Given the description of an element on the screen output the (x, y) to click on. 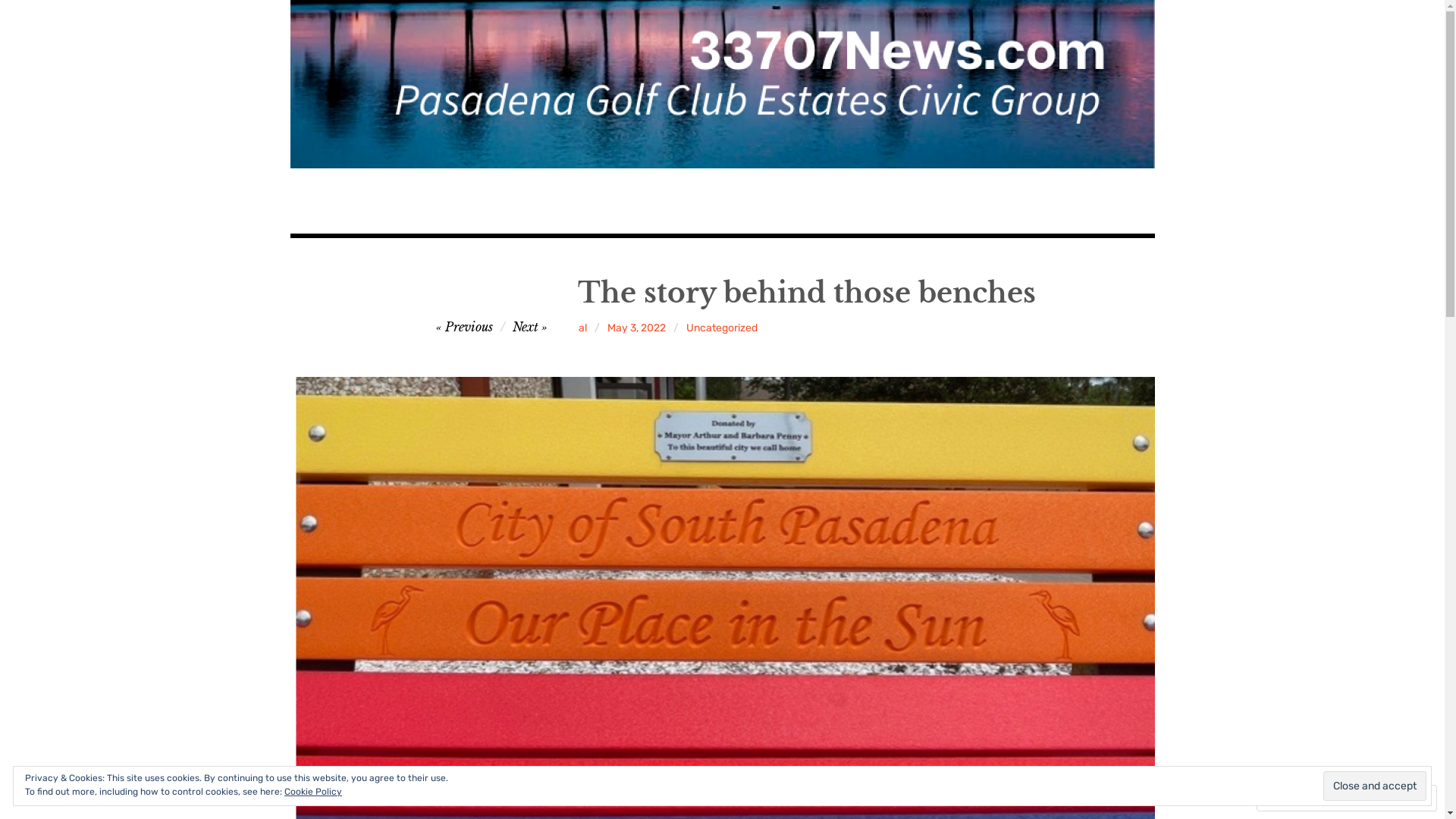
Comment Element type: text (1297, 797)
Previous Element type: text (464, 325)
Next Element type: text (529, 325)
May 3, 2022 Element type: text (636, 327)
Uncategorized Element type: text (721, 327)
Follow Element type: text (1373, 797)
Cookie Policy Element type: text (313, 791)
Close and accept Element type: text (1374, 785)
al Element type: text (582, 327)
